Given the description of an element on the screen output the (x, y) to click on. 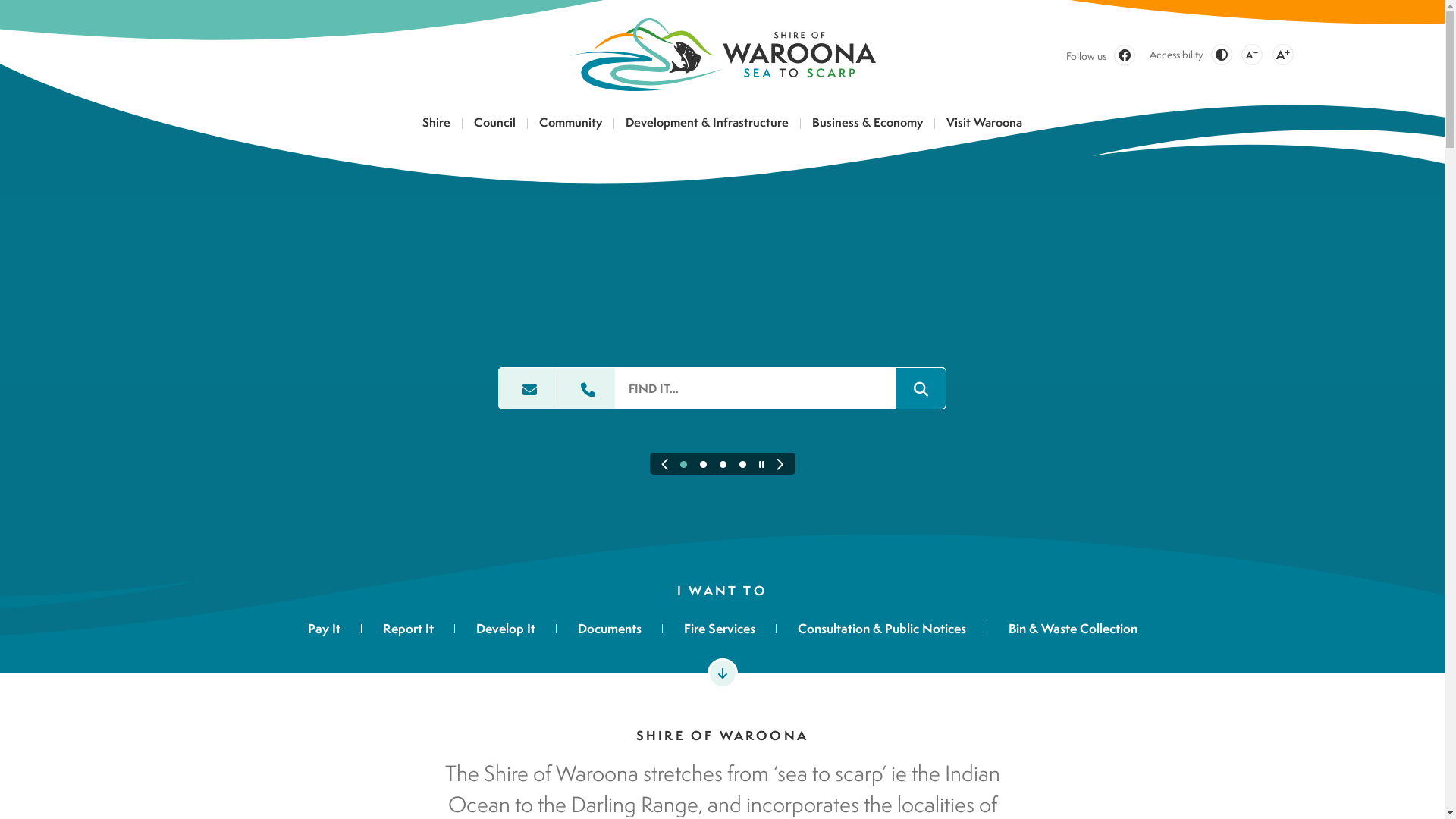
Change Colour Contrast Element type: hover (1220, 54)
A Element type: text (1282, 54)
Visit Waroona Element type: text (983, 126)
Follow us Element type: text (1100, 54)
Click here to scroll down Element type: hover (721, 673)
Documents Element type: text (609, 632)
Call the Shire of Waroona Element type: hover (586, 387)
Accessibility Element type: text (1175, 54)
Report It Element type: text (407, 632)
Pay It Element type: text (334, 632)
Develop It Element type: text (505, 632)
Council Element type: text (494, 126)
Business & Economy Element type: text (867, 126)
Fire Services Element type: text (719, 632)
Previous Slide Element type: hover (664, 464)
A Element type: text (1251, 54)
Next Slide Element type: hover (779, 464)
Pause this Slideshow Element type: hover (761, 463)
Email the Shire of Waroona Element type: hover (527, 387)
Community Element type: text (570, 126)
Shire Element type: text (436, 126)
Bin & Waste Collection Element type: text (1062, 632)
Development & Infrastructure Element type: text (707, 126)
Consultation & Public Notices Element type: text (881, 632)
